Given the description of an element on the screen output the (x, y) to click on. 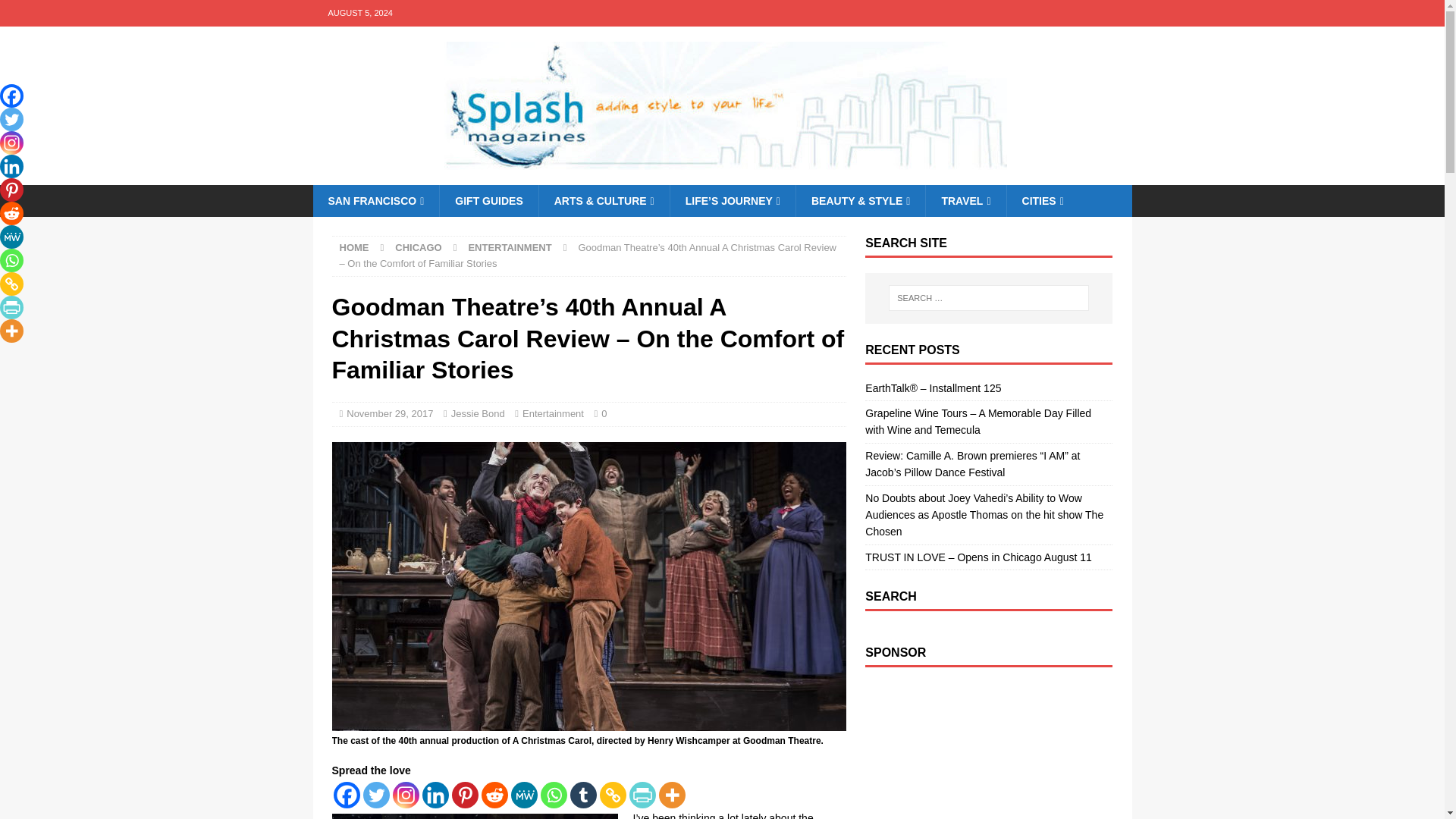
Reddit (493, 795)
Pinterest (465, 795)
Facebook (346, 795)
SAN FRANCISCO (376, 201)
TRAVEL (965, 201)
GIFT GUIDES (488, 201)
Whatsapp (553, 795)
MeWe (524, 795)
CITIES (1042, 201)
Linkedin (435, 795)
Copy Link (612, 795)
More (671, 795)
PrintFriendly (642, 795)
Instagram (406, 795)
Tumblr (583, 795)
